Given the description of an element on the screen output the (x, y) to click on. 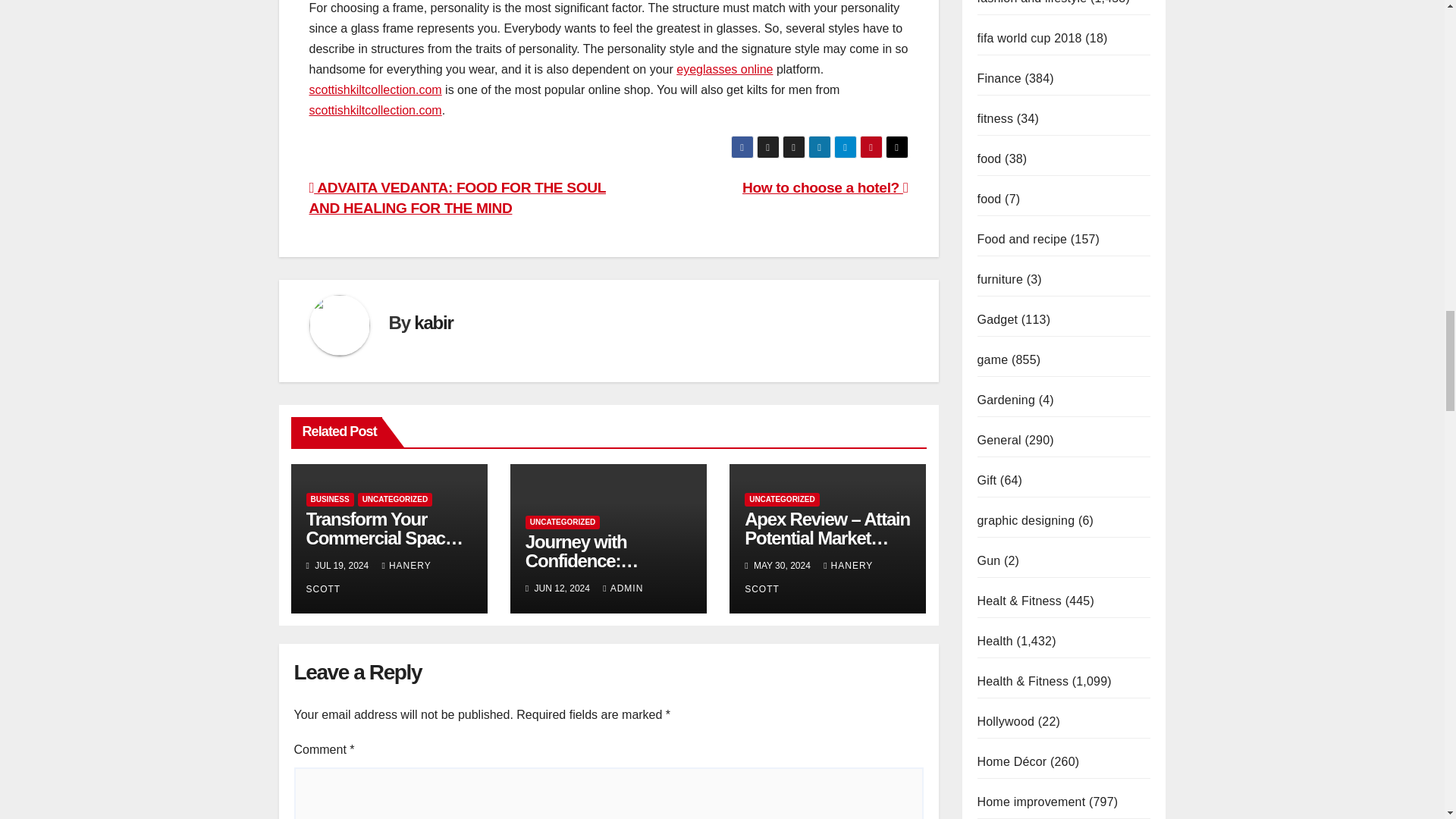
UNCATEGORIZED (395, 499)
BUSINESS (329, 499)
How to choose a hotel? (824, 187)
ADVAITA VEDANTA: FOOD FOR THE SOUL AND HEALING FOR THE MIND (456, 197)
eyeglasses online (725, 69)
kabir (432, 322)
scottishkiltcollection.com (375, 89)
scottishkiltcollection.com (375, 110)
